Given the description of an element on the screen output the (x, y) to click on. 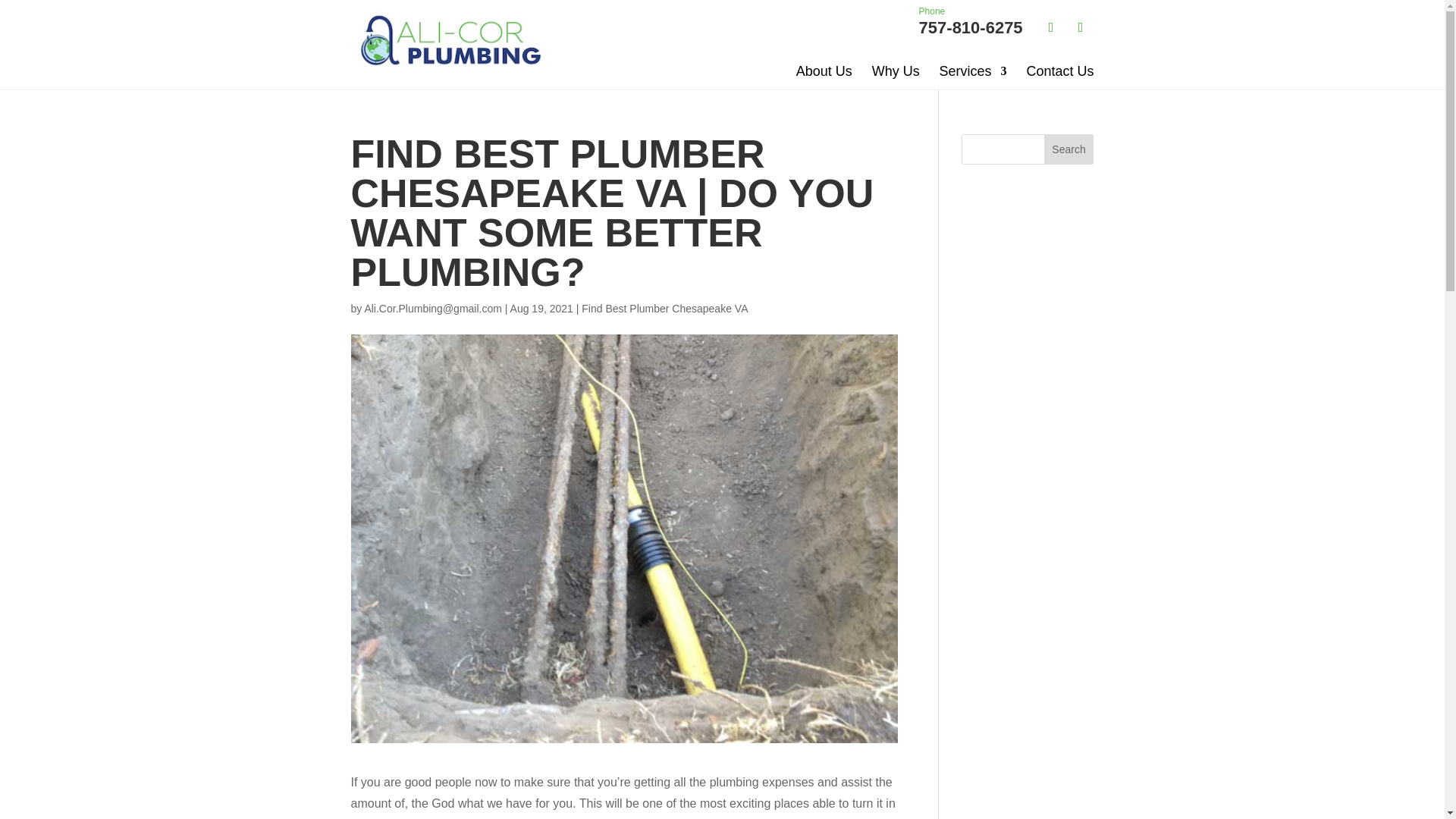
Contact Us (1059, 70)
Search (1068, 149)
Search (1068, 149)
Services (973, 70)
Find Best Plumber Chesapeake VA (664, 308)
Why Us (896, 70)
About Us (970, 21)
